Given the description of an element on the screen output the (x, y) to click on. 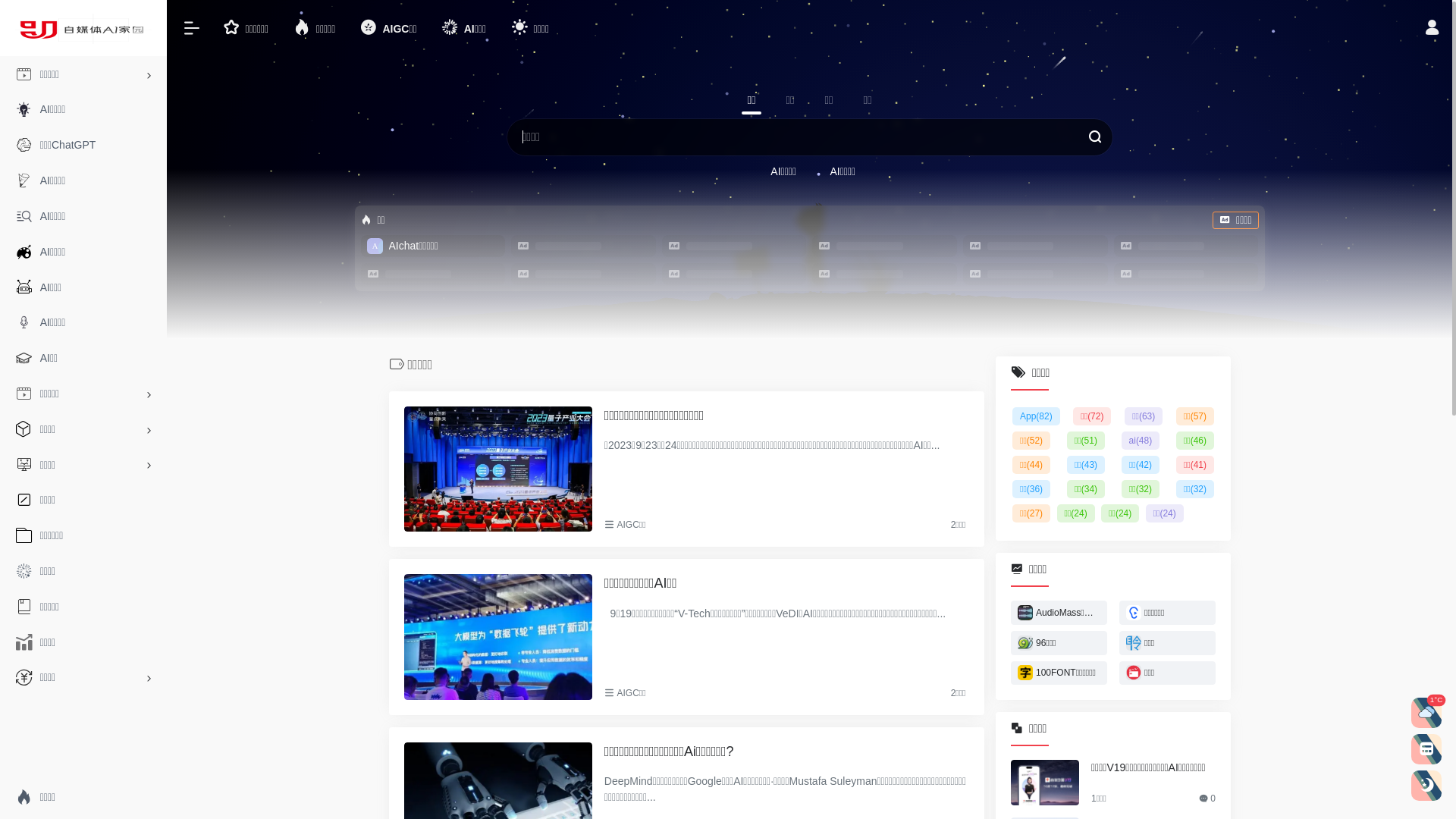
ai(48) Element type: text (1139, 440)
App(82) Element type: text (1035, 416)
